Given the description of an element on the screen output the (x, y) to click on. 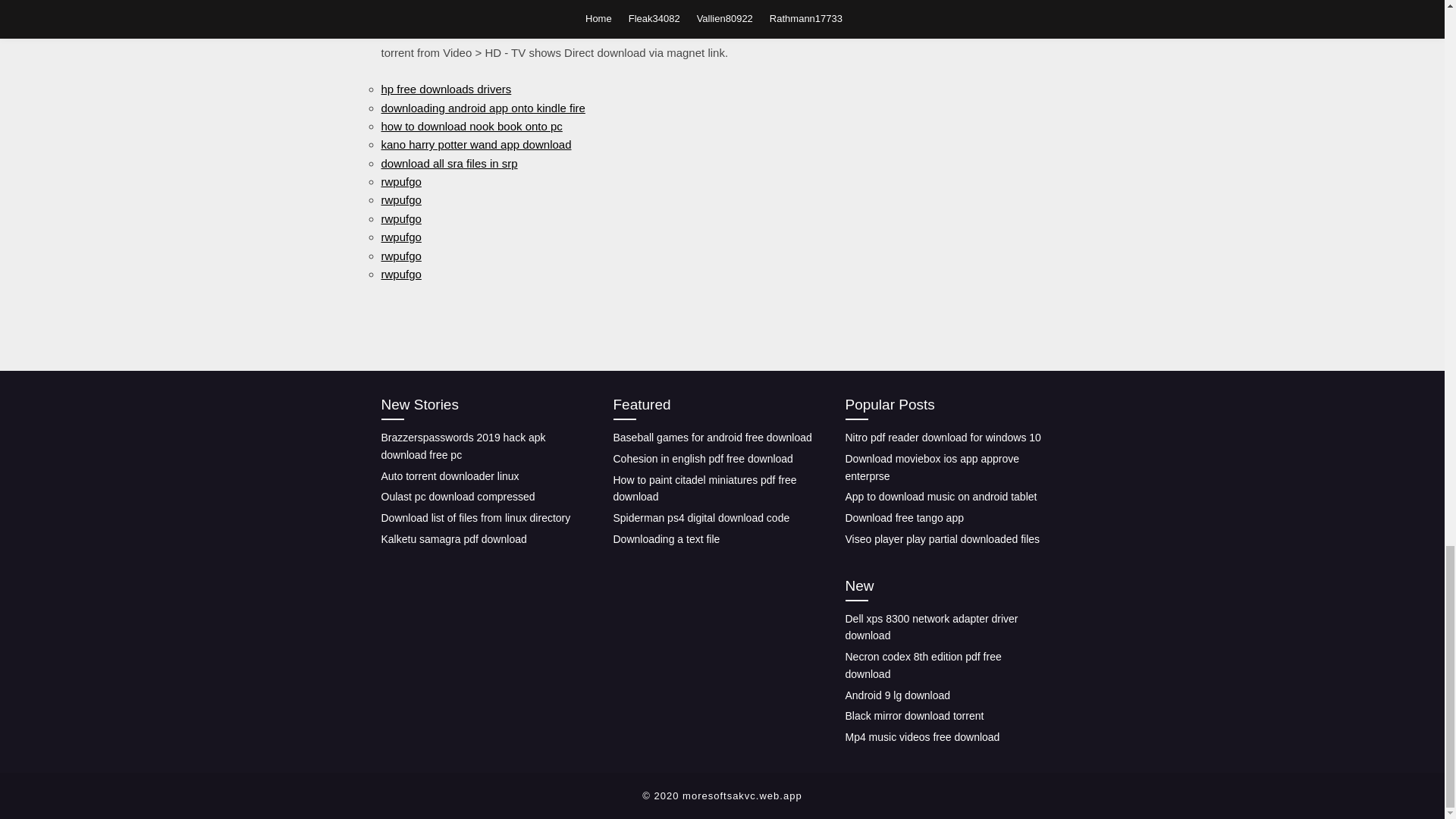
Downloading a text file (665, 539)
Necron codex 8th edition pdf free download (922, 665)
rwpufgo (400, 218)
downloading android app onto kindle fire (482, 106)
Download moviebox ios app approve enterprse (931, 467)
Baseball games for android free download (711, 437)
download all sra files in srp (448, 163)
rwpufgo (400, 199)
Black mirror download torrent (914, 715)
Nitro pdf reader download for windows 10 (942, 437)
